Given the description of an element on the screen output the (x, y) to click on. 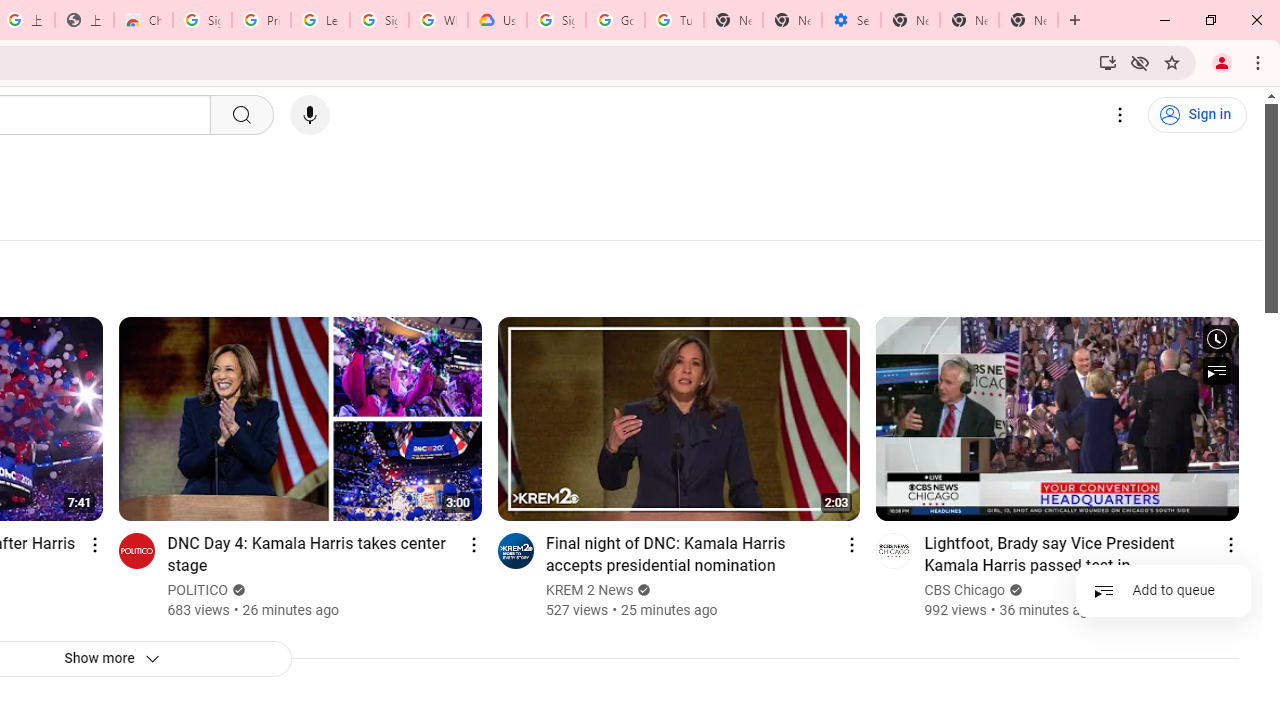
Turn cookies on or off - Computer - Google Account Help (674, 20)
Settings - Addresses and more (850, 20)
Verified (1014, 590)
Add to queue (1163, 590)
POLITICO (198, 590)
Settings (1119, 115)
Sign in - Google Accounts (201, 20)
Action menu (1229, 544)
